Given the description of an element on the screen output the (x, y) to click on. 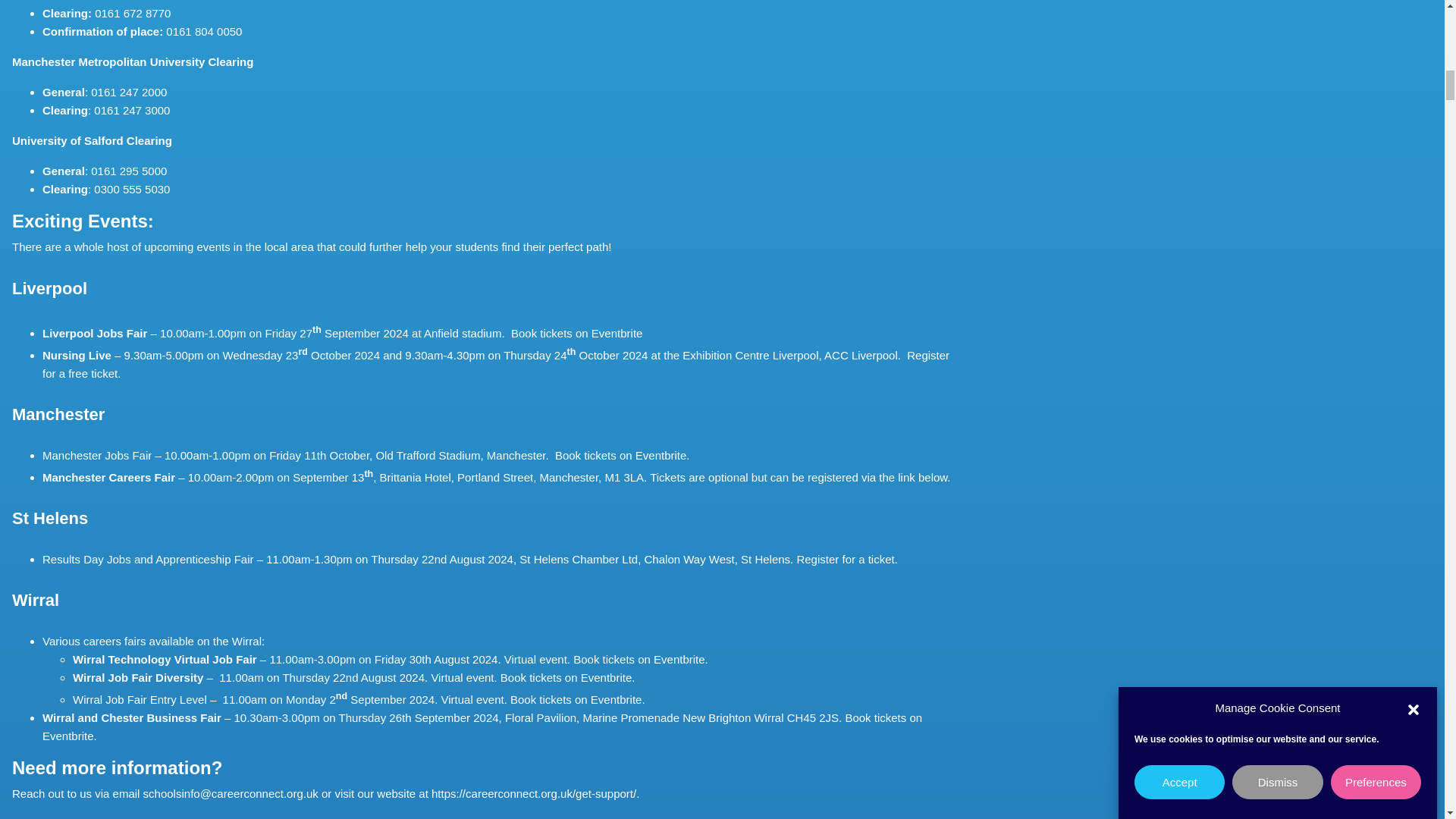
Nursing Live (77, 354)
Manchester Careers Fair (108, 477)
Liverpool Jobs Fair (94, 332)
Wirral Technology Virtual Job Fair (164, 658)
Wirral Job Fair Diversity (137, 676)
Manchester Jobs Fair (96, 454)
Results Day Jobs and Apprenticeship Fair (147, 558)
